Given the description of an element on the screen output the (x, y) to click on. 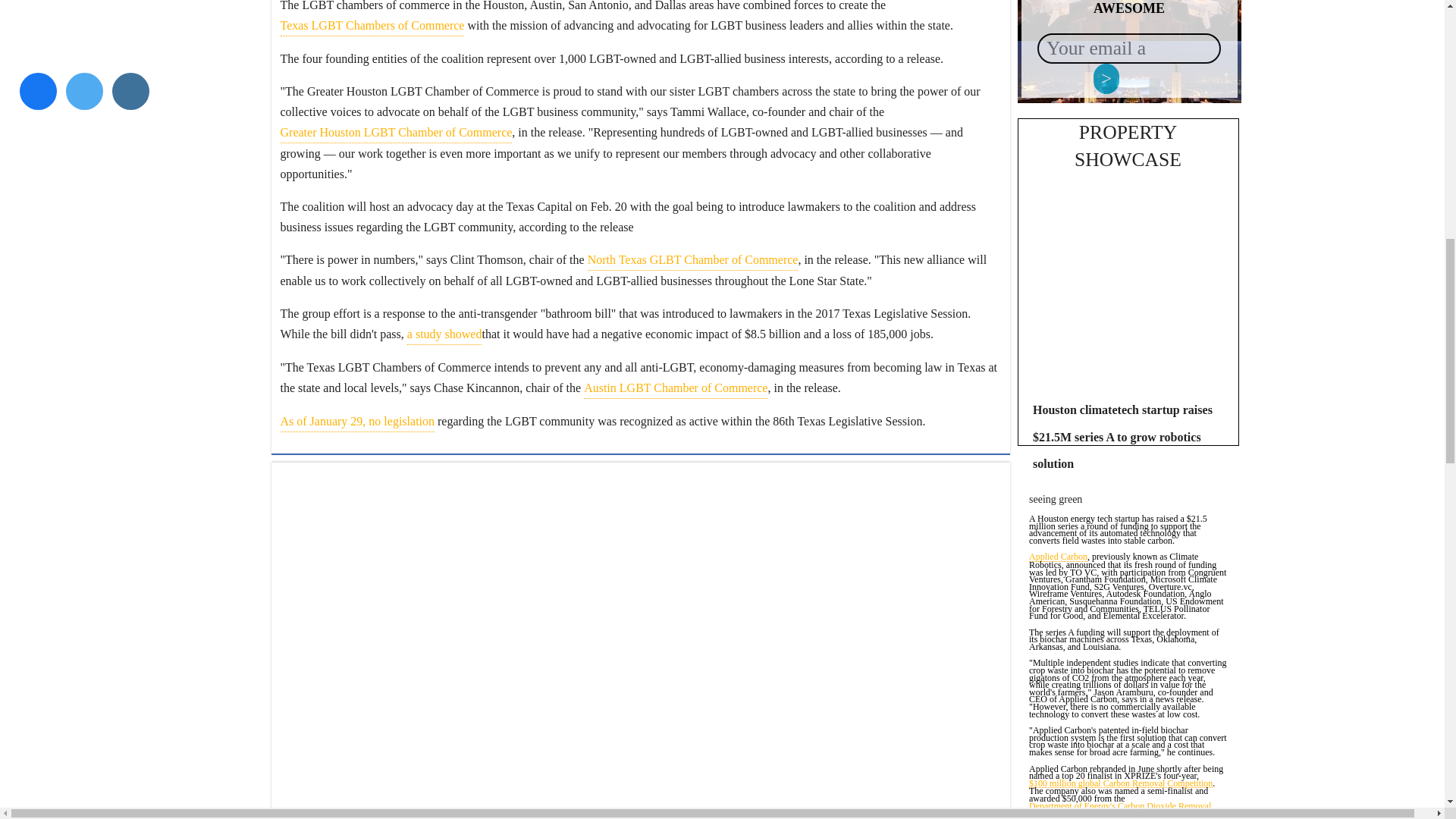
Texas LGBT Chambers of Commerce (372, 25)
North Texas GLBT Chamber of Commerce (692, 260)
Greater Houston LGBT Chamber of Commerce (396, 132)
Austin LGBT Chamber of Commerce (675, 387)
PROPERTY SHOWCASE (1127, 145)
As of January 29, no legislation (358, 421)
Applied Carbon (1058, 557)
a study showed (444, 333)
